Given the description of an element on the screen output the (x, y) to click on. 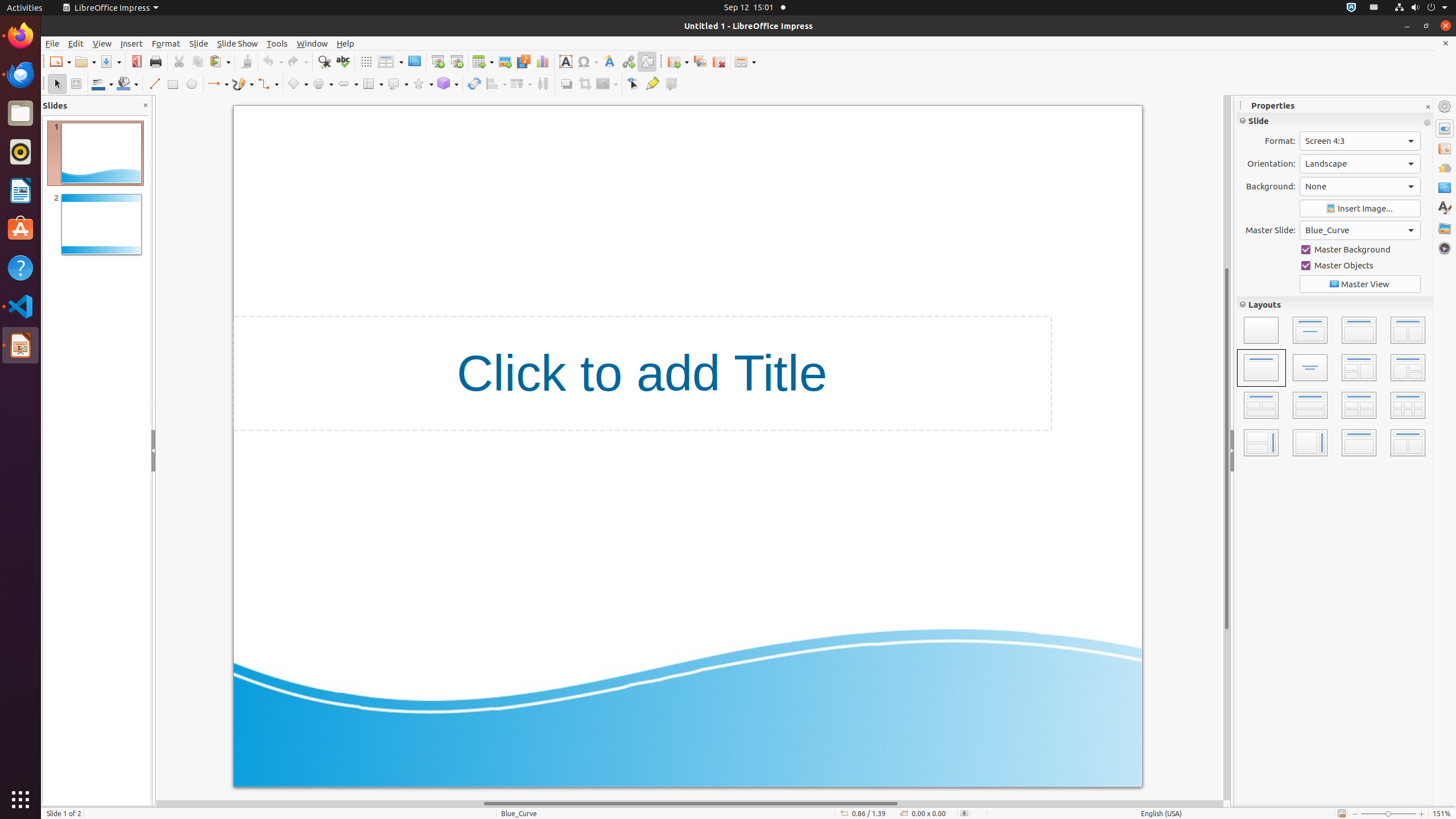
Promote Element type: push-button (1393, 386)
Center Element type: toggle-button (1407, 234)
Close Pane Element type: push-button (145, 105)
Cut Element type: push-button (178, 61)
New Element type: push-button (59, 61)
